Given the description of an element on the screen output the (x, y) to click on. 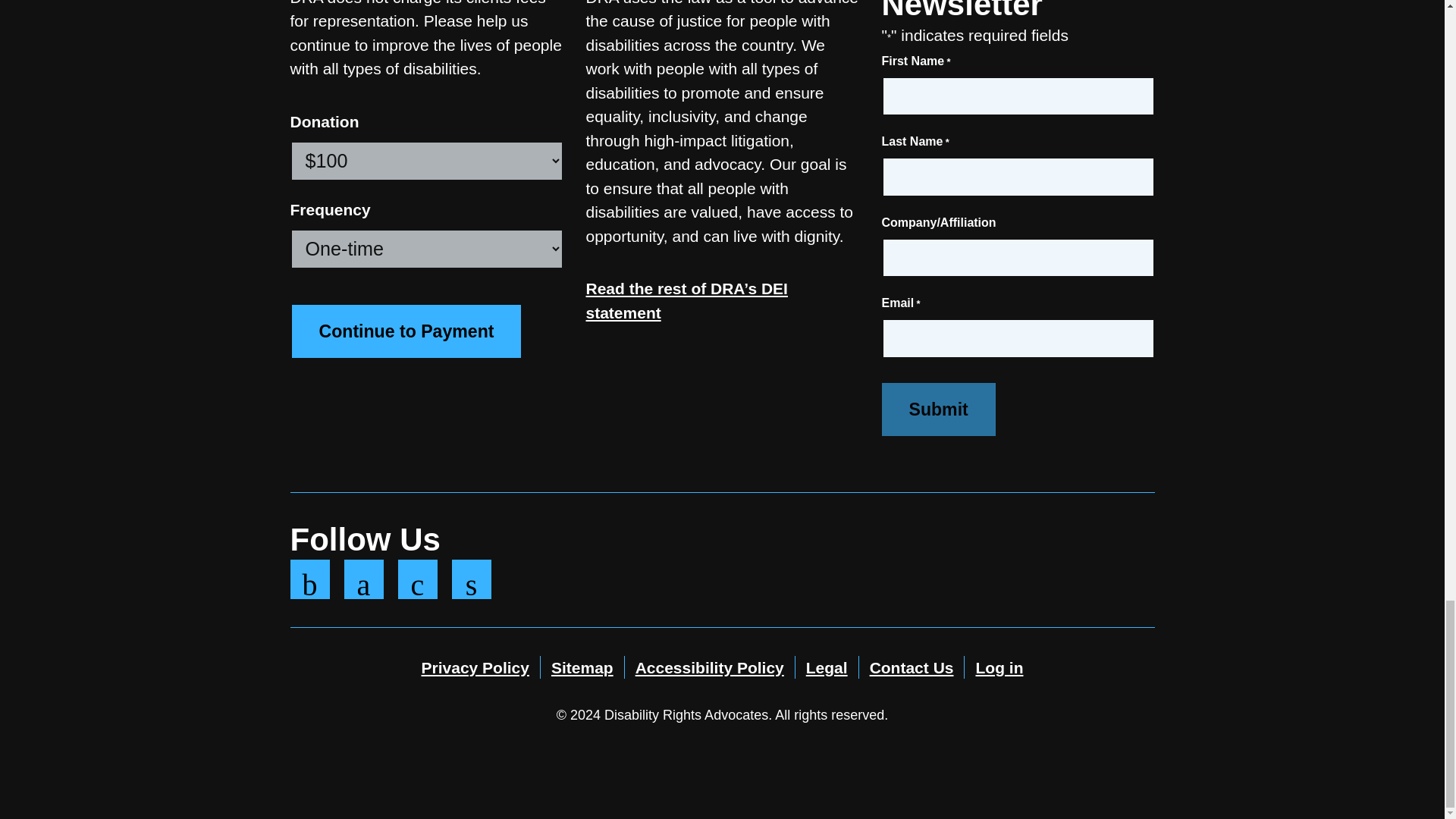
Submit (937, 409)
Continue to Payment (405, 331)
